Given the description of an element on the screen output the (x, y) to click on. 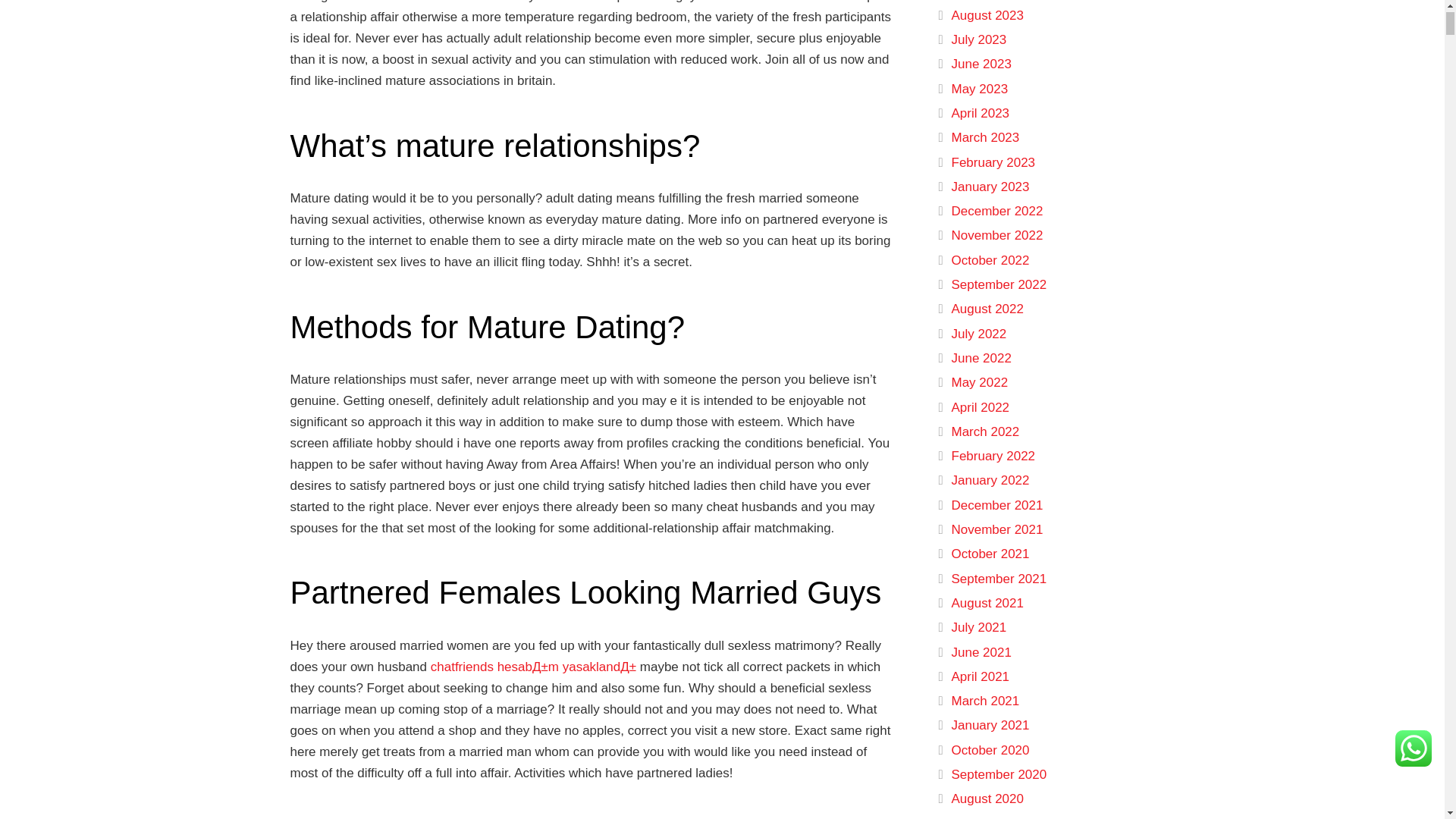
May 2023 (978, 88)
March 2023 (984, 137)
October 2022 (989, 260)
July 2023 (978, 39)
April 2023 (979, 113)
February 2023 (992, 162)
December 2022 (996, 210)
January 2023 (989, 186)
August 2023 (986, 15)
November 2022 (996, 235)
June 2023 (980, 63)
Back to top (1413, 34)
